Given the description of an element on the screen output the (x, y) to click on. 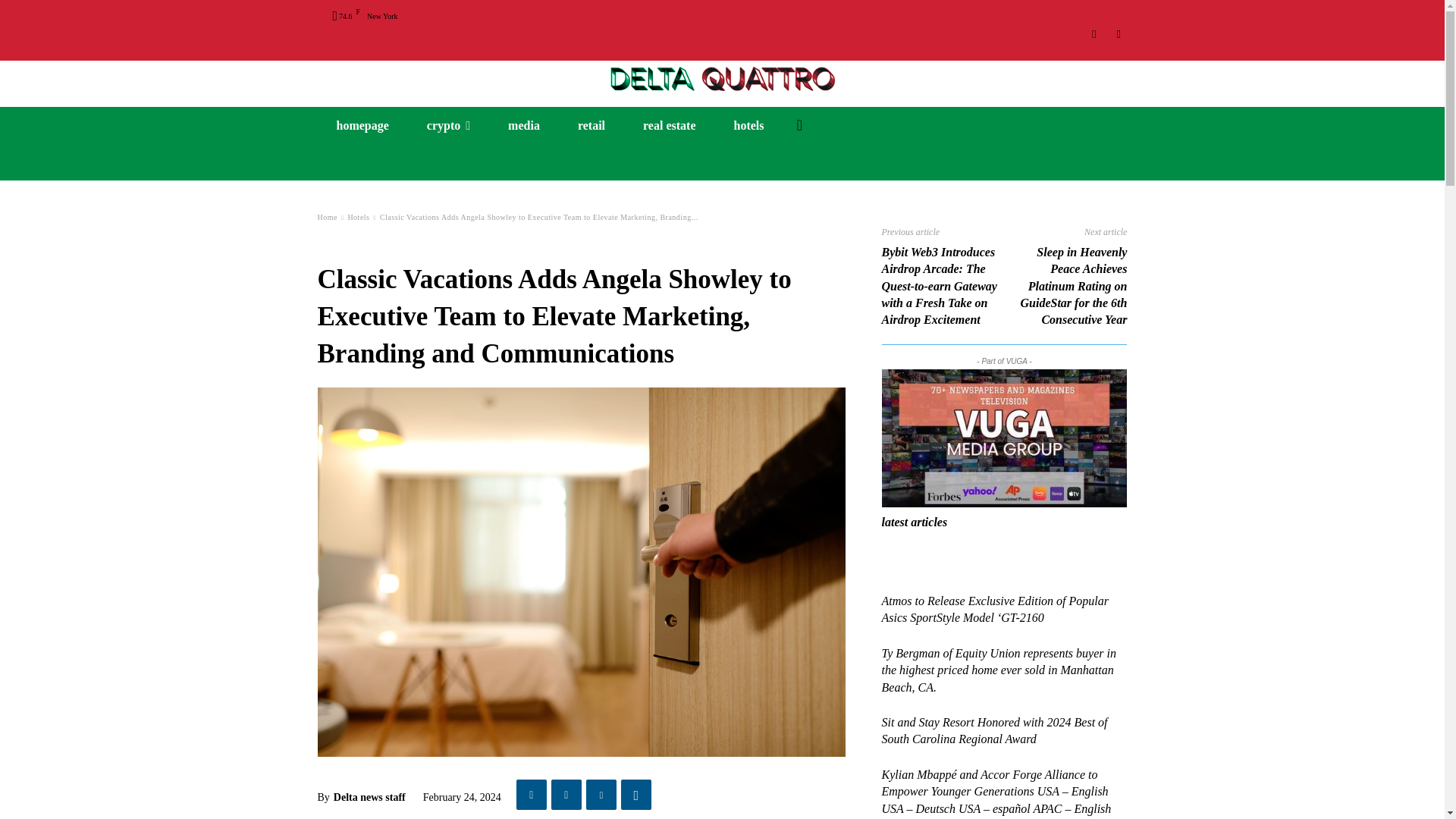
Delta Quattro (721, 77)
hotels (748, 125)
real estate (669, 125)
Facebook (1117, 34)
media (524, 125)
Delta Quattro (721, 77)
crypto (448, 125)
Instagram (1094, 34)
retail (591, 125)
homepage (362, 125)
